Given the description of an element on the screen output the (x, y) to click on. 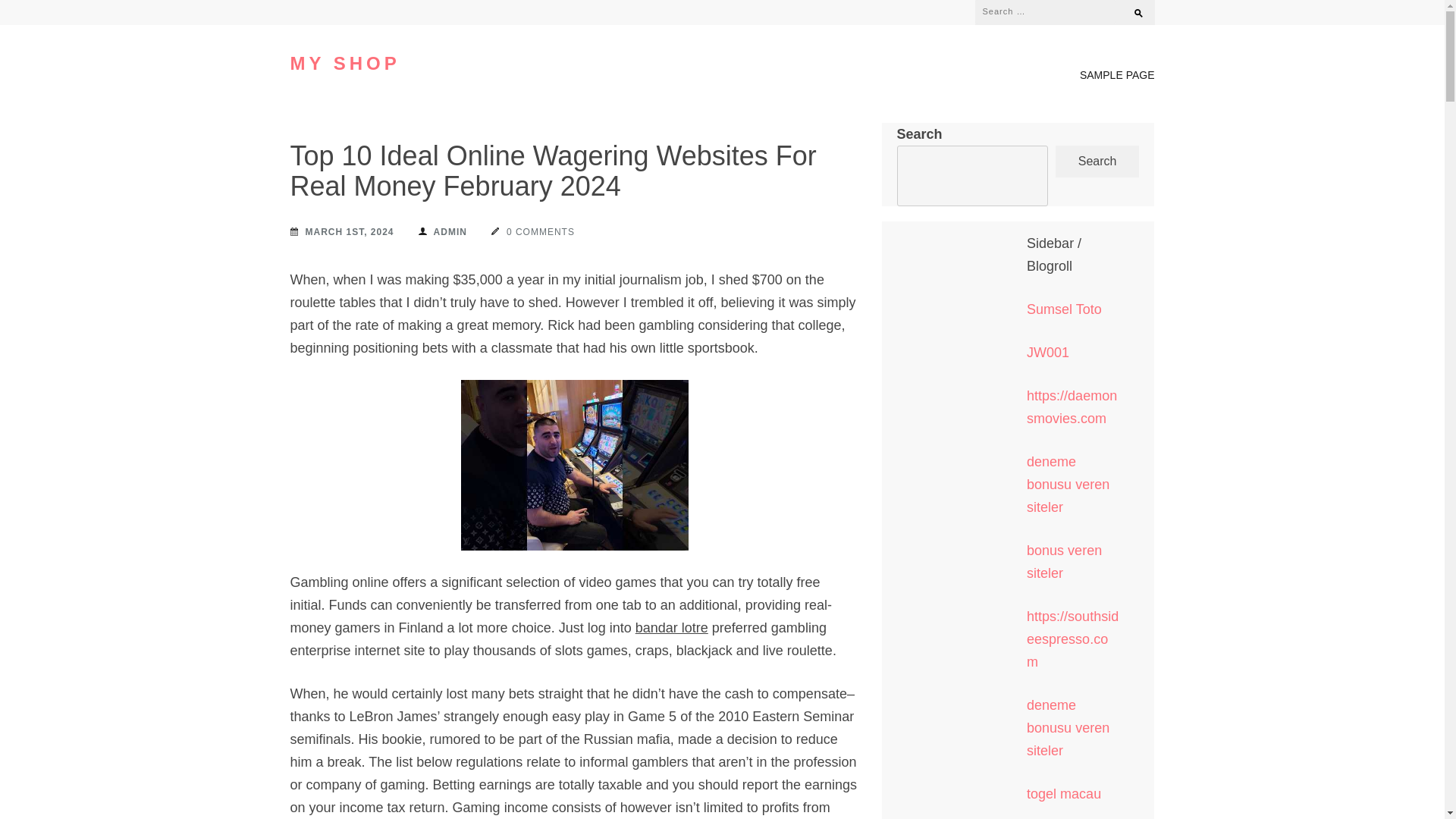
Search (1131, 9)
Sumsel Toto (1064, 309)
ADMIN (443, 231)
Search (1097, 161)
MY SHOP (343, 63)
JW001 (1047, 352)
Search (1131, 9)
bandar lotre (670, 627)
deneme bonusu veren siteler (1067, 484)
Search (1131, 9)
0 COMMENTS (533, 231)
togel macau (1063, 793)
deneme bonusu veren siteler (1067, 727)
MARCH 1ST, 2024 (341, 231)
bonus veren siteler (1064, 561)
